Given the description of an element on the screen output the (x, y) to click on. 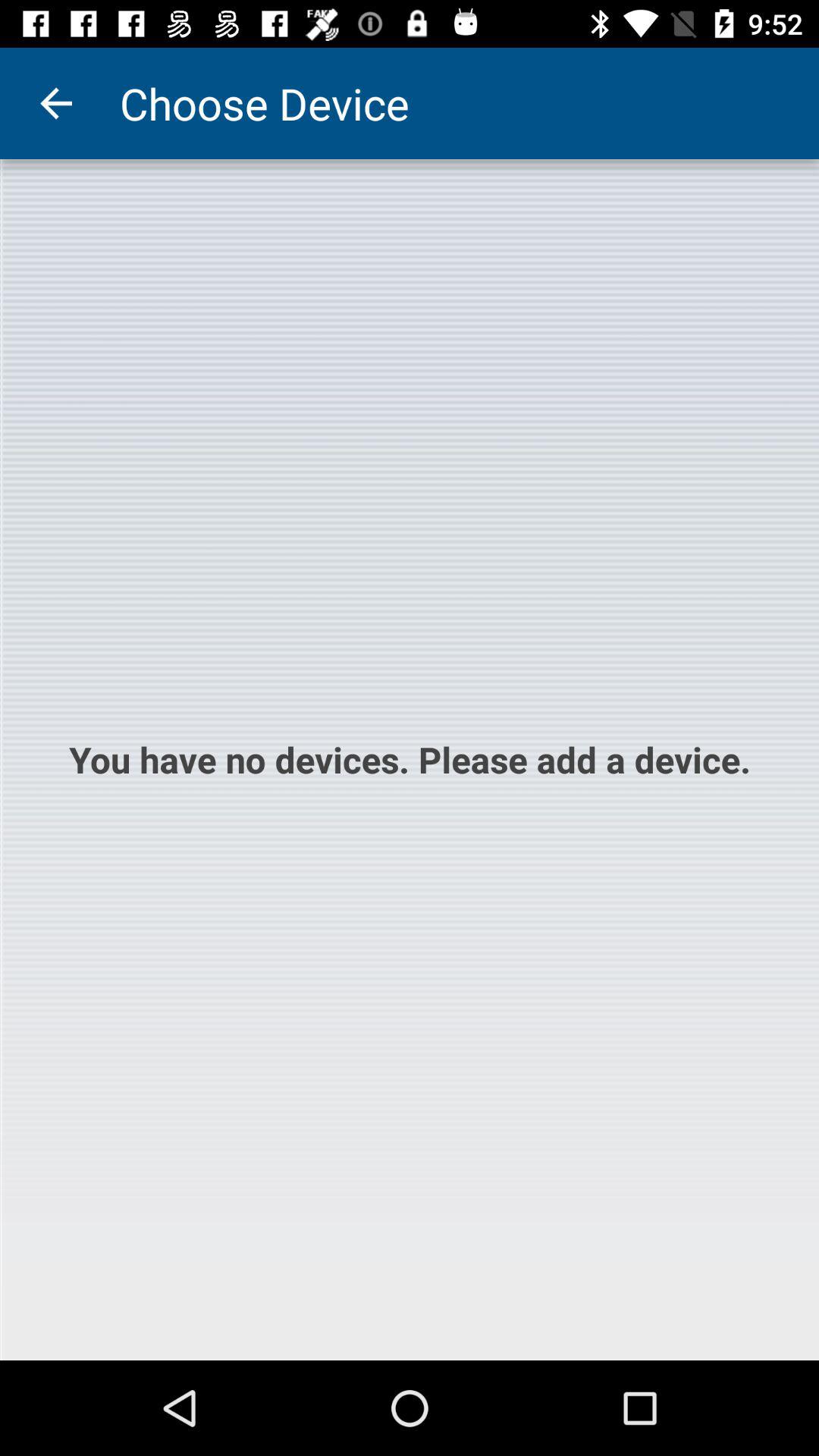
launch icon next to the choose device icon (55, 103)
